Given the description of an element on the screen output the (x, y) to click on. 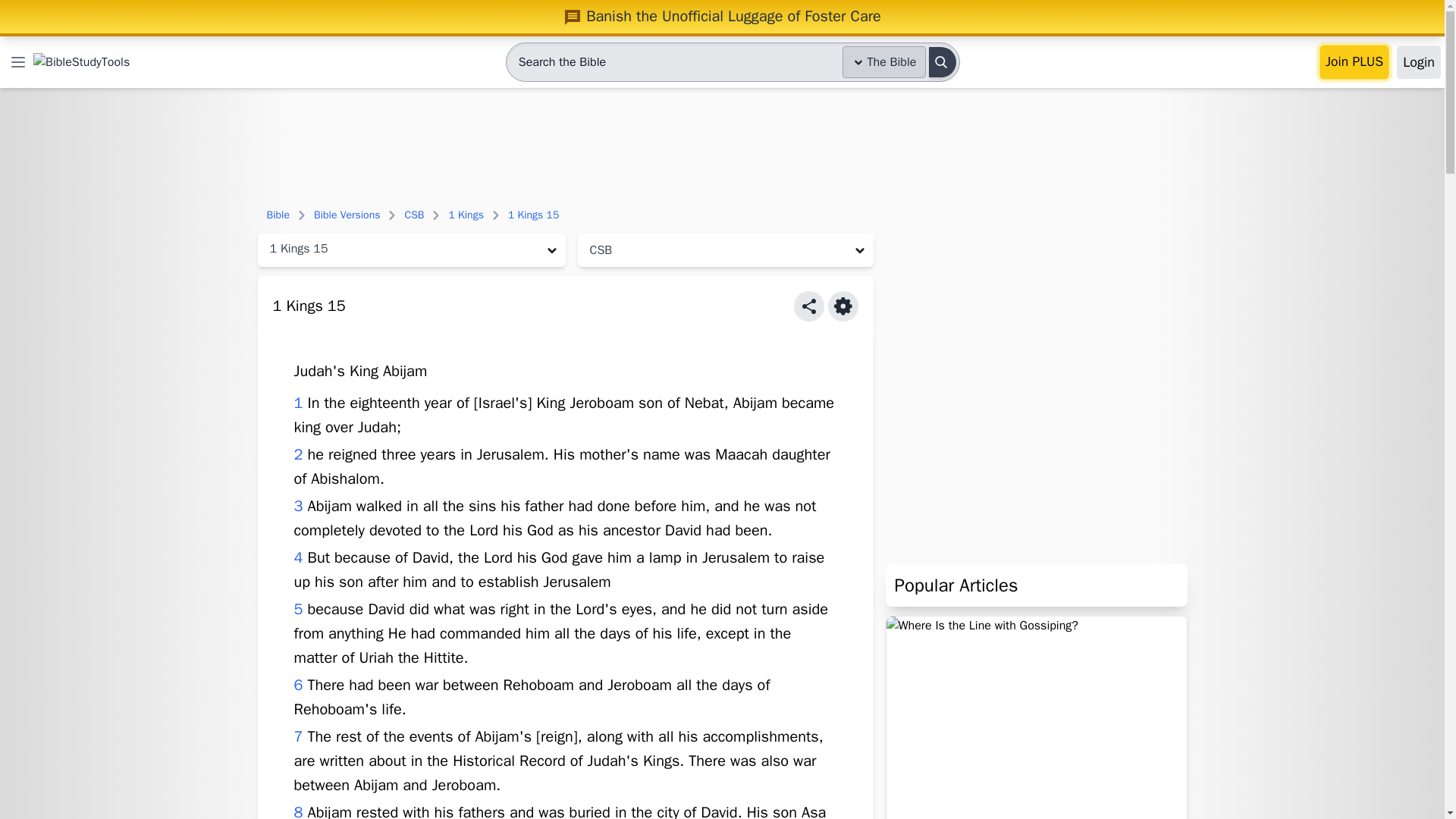
Banish the Unofficial Luggage of Foster Care (721, 16)
Join PLUS (1354, 62)
Scripture Settings (843, 306)
The Bible (884, 61)
Login (1418, 62)
